Given the description of an element on the screen output the (x, y) to click on. 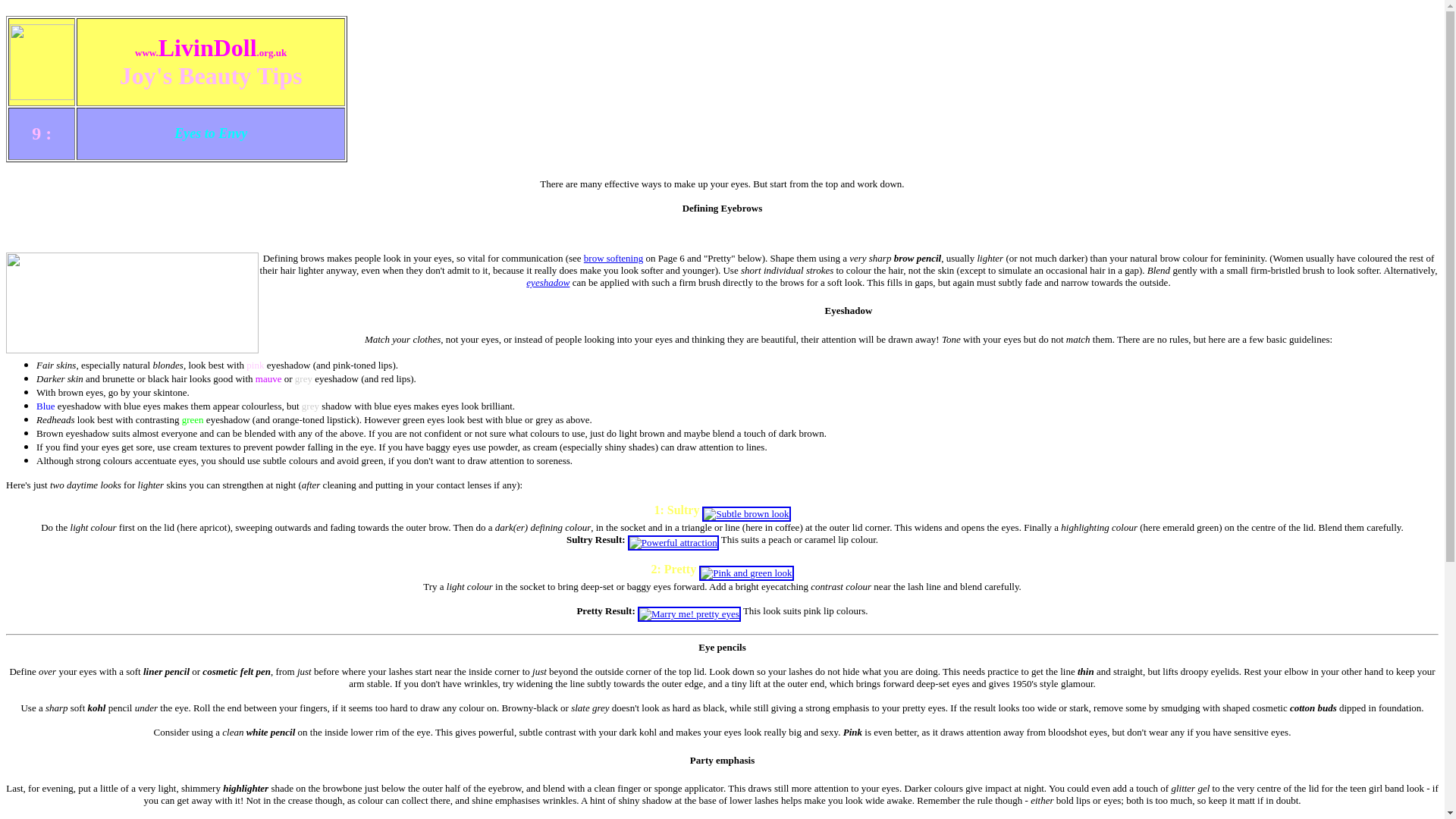
eyeshadow (547, 282)
eyeshadow (547, 282)
brow softening (613, 257)
